Given the description of an element on the screen output the (x, y) to click on. 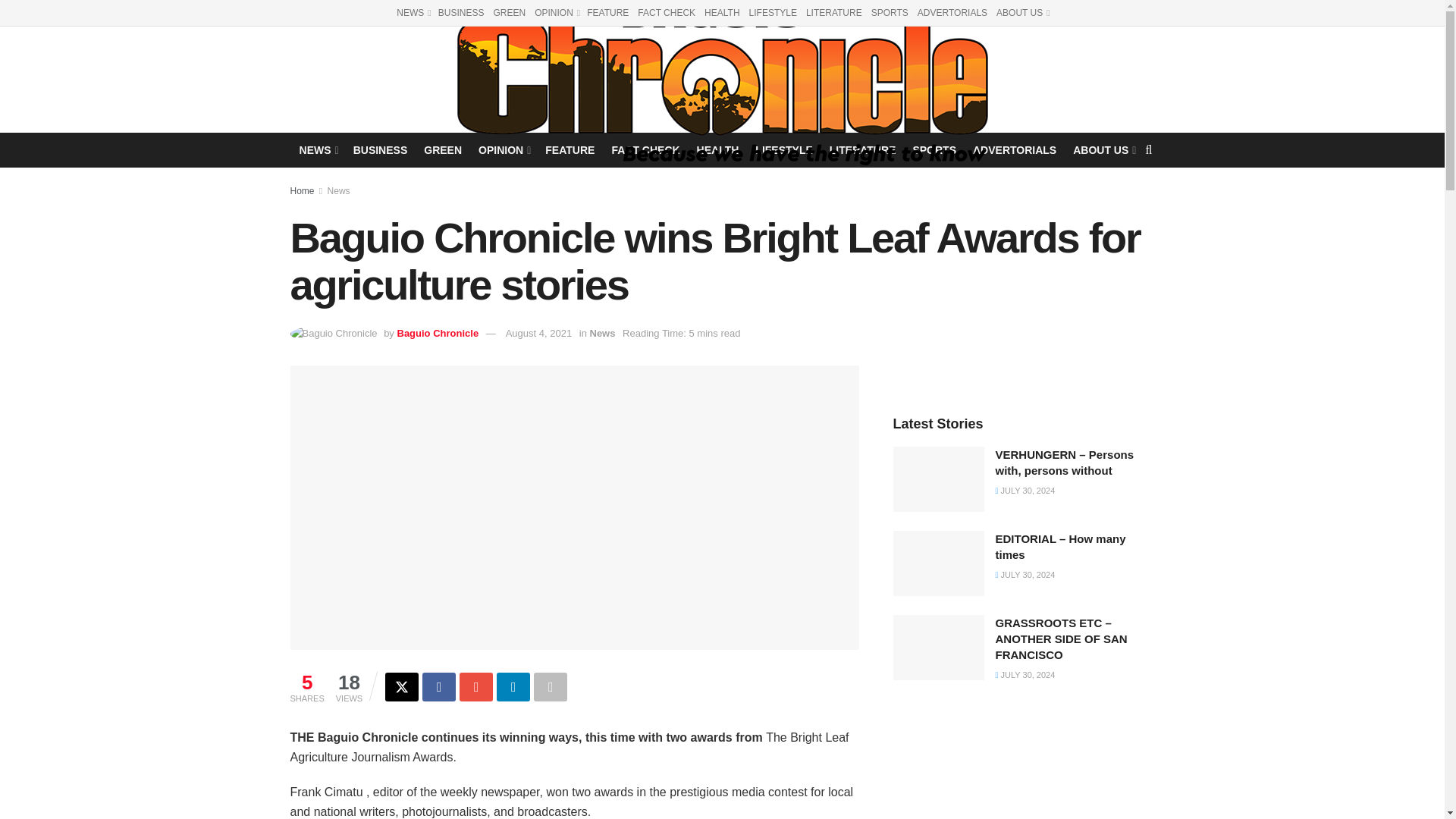
FEATURE (569, 149)
FEATURE (607, 12)
ABOUT US (1103, 149)
LITERATURE (862, 149)
BUSINESS (380, 149)
LIFESTYLE (772, 12)
BUSINESS (461, 12)
LIFESTYLE (783, 149)
HEALTH (721, 12)
GREEN (442, 149)
ABOUT US (1021, 12)
NEWS (412, 12)
OPINION (556, 12)
HEALTH (718, 149)
FACT CHECK (645, 149)
